Given the description of an element on the screen output the (x, y) to click on. 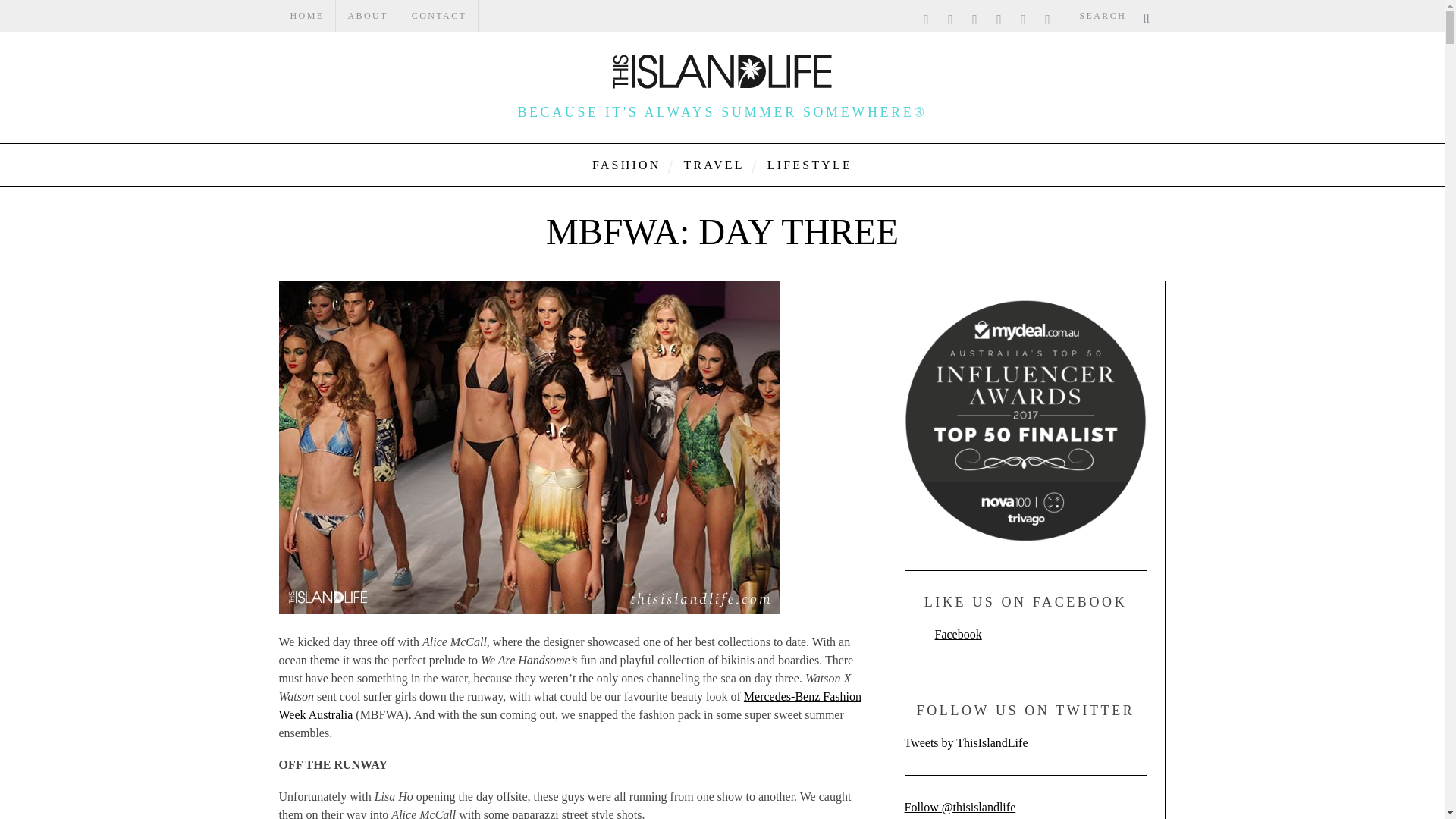
TRAVEL (713, 164)
Search (1115, 15)
ABOUT (367, 15)
HOME (307, 15)
CONTACT (439, 15)
FASHION (626, 164)
